Given the description of an element on the screen output the (x, y) to click on. 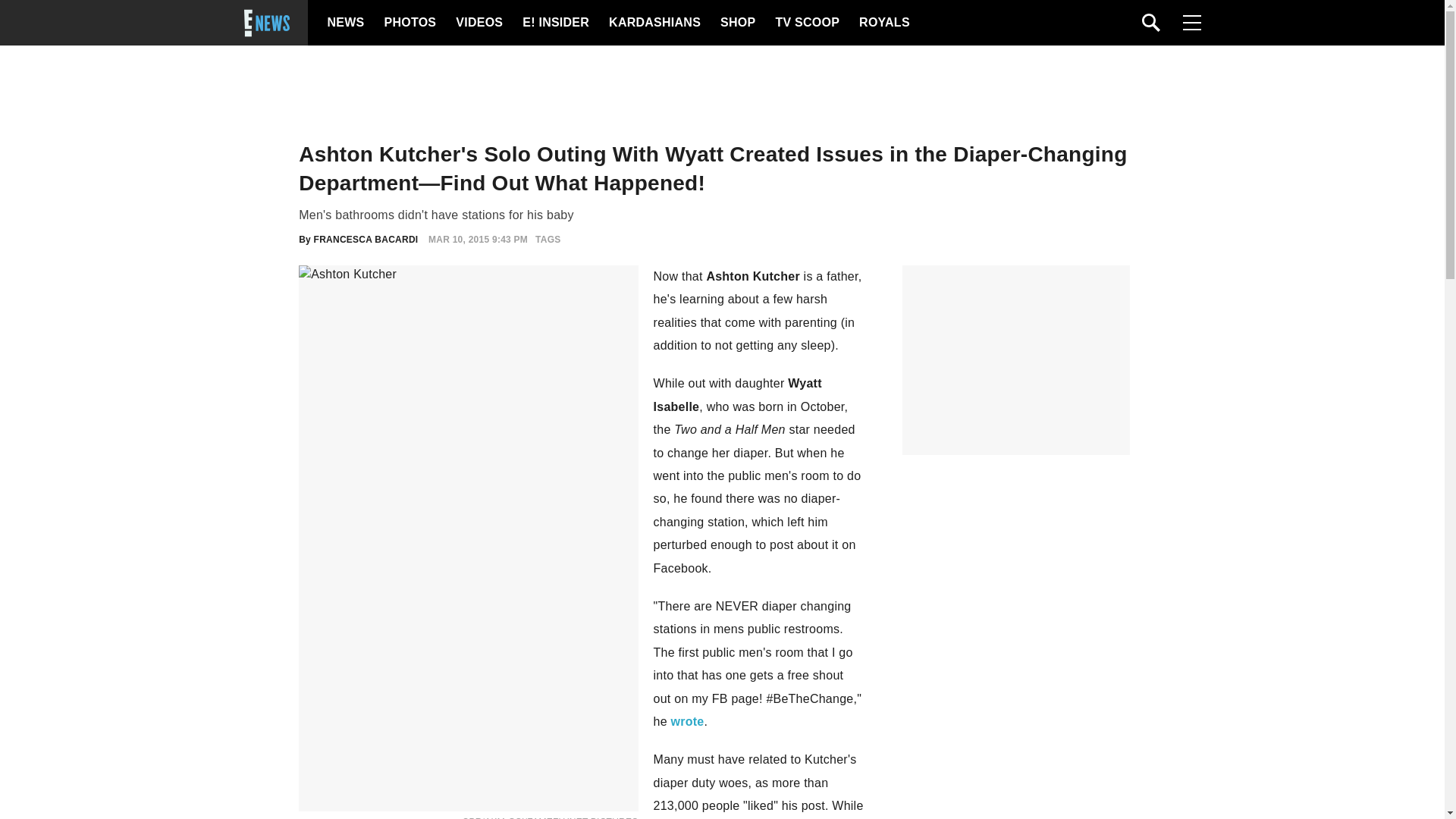
wrote (687, 721)
SHOP (737, 22)
PHOTOS (408, 22)
E! INSIDER (555, 22)
NEWS (345, 22)
FRANCESCA BACARDI (366, 239)
TV SCOOP (806, 22)
ROYALS (883, 22)
VIDEOS (478, 22)
KARDASHIANS (653, 22)
